Given the description of an element on the screen output the (x, y) to click on. 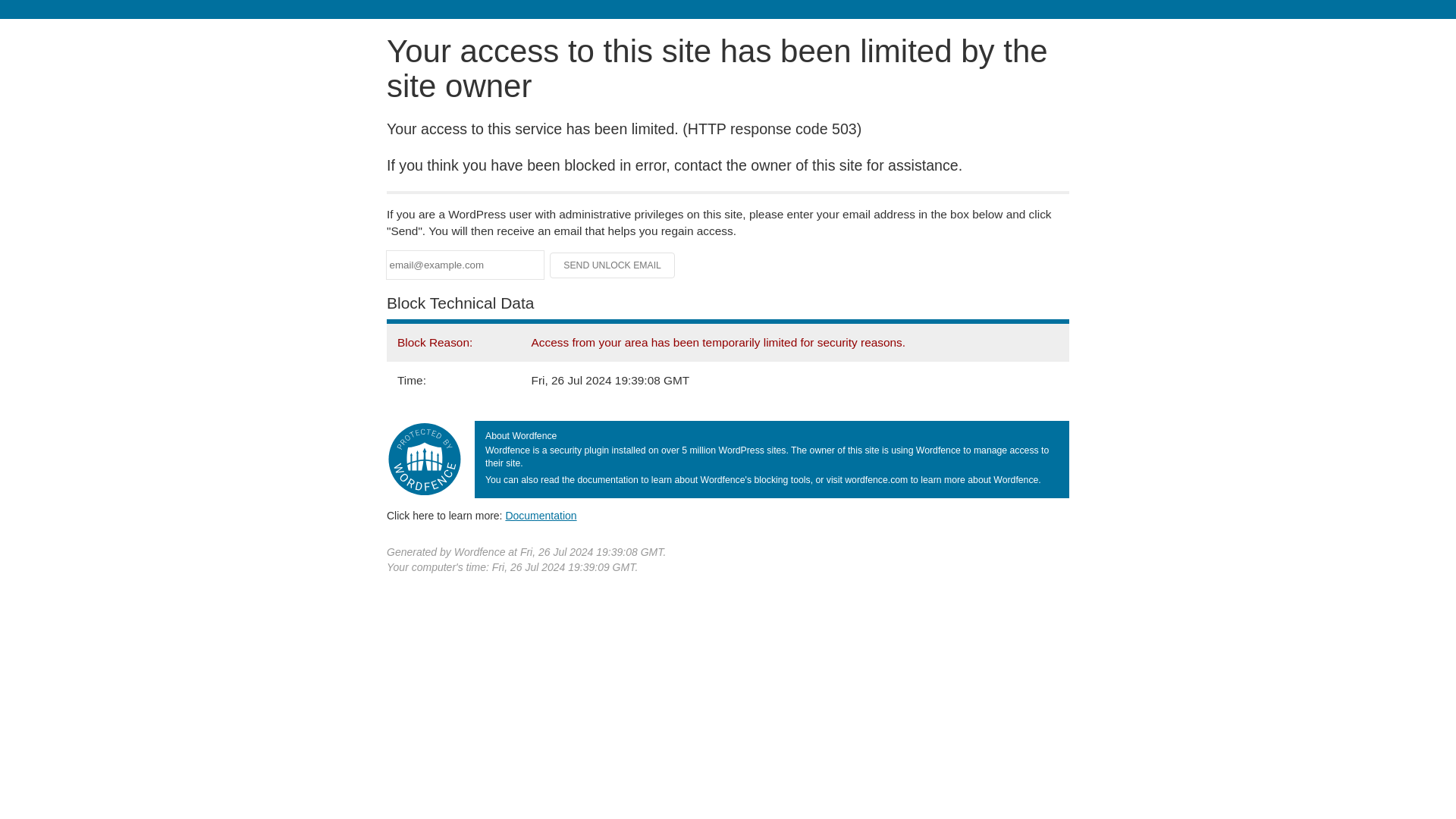
Send Unlock Email (612, 265)
Send Unlock Email (612, 265)
Documentation (540, 515)
